Given the description of an element on the screen output the (x, y) to click on. 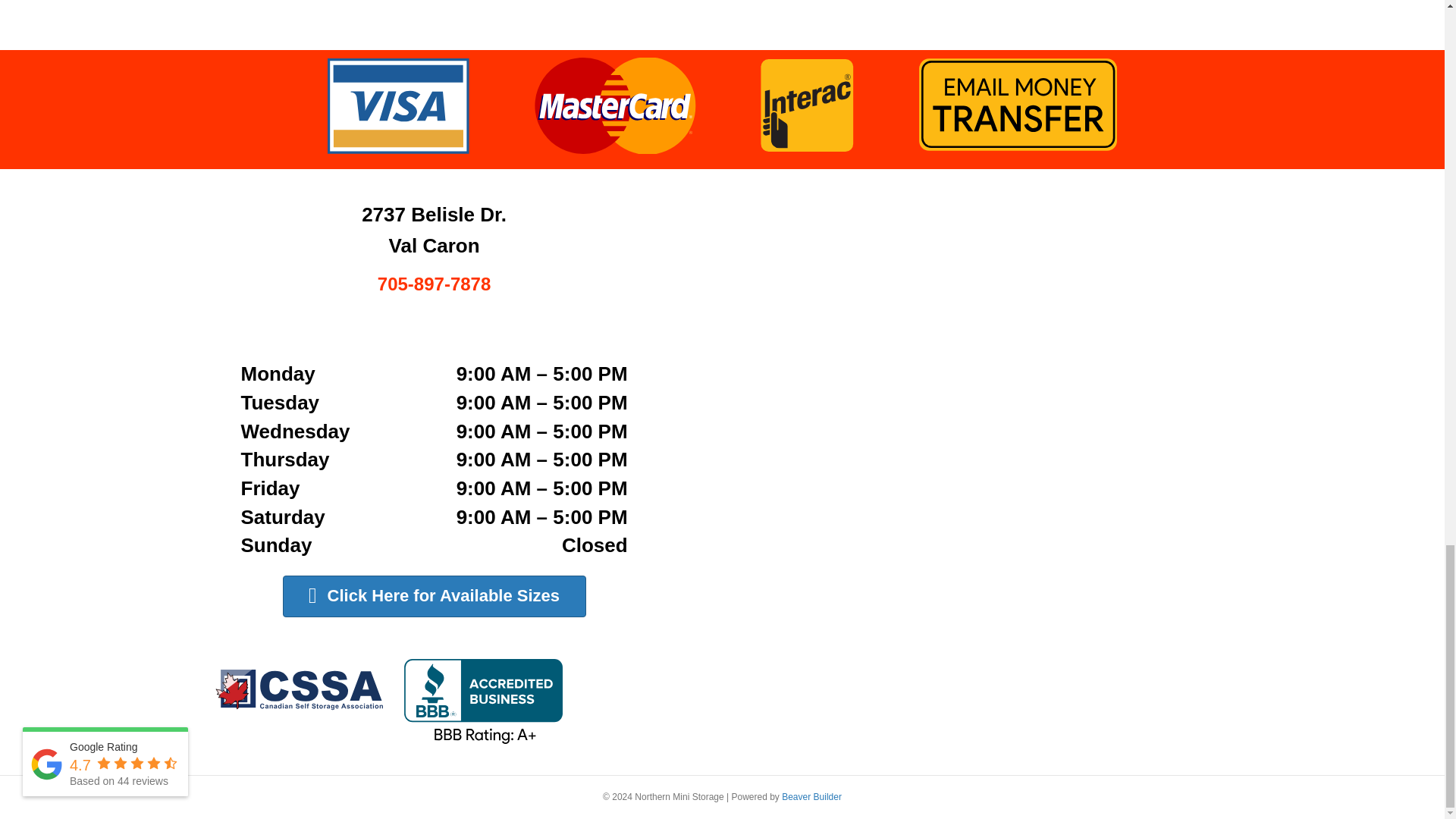
Asset 5 (722, 105)
705-897-7878 (433, 286)
Beaver Builder (811, 796)
Click Here for Available Sizes (434, 596)
Asset 1 (386, 701)
WordPress Page Builder Plugin (811, 796)
